Given the description of an element on the screen output the (x, y) to click on. 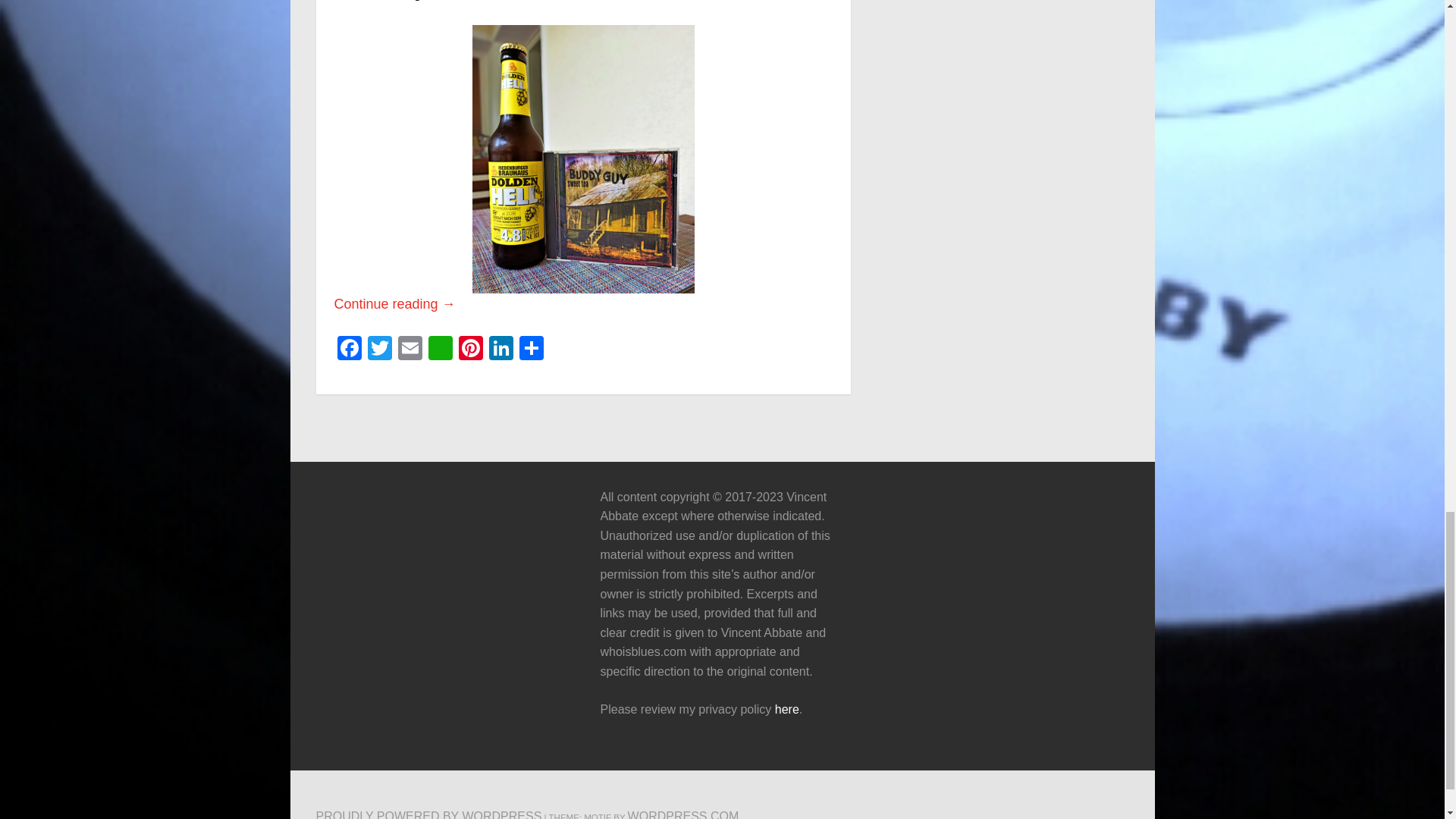
Share (530, 349)
Email (409, 349)
Facebook (348, 349)
Pinterest (469, 349)
Email (409, 349)
Pinterest (469, 349)
Twitter (379, 349)
Twitter (379, 349)
LinkedIn (499, 349)
WhatsApp (439, 349)
WhatsApp (439, 349)
Facebook (348, 349)
LinkedIn (499, 349)
here (786, 708)
